Given the description of an element on the screen output the (x, y) to click on. 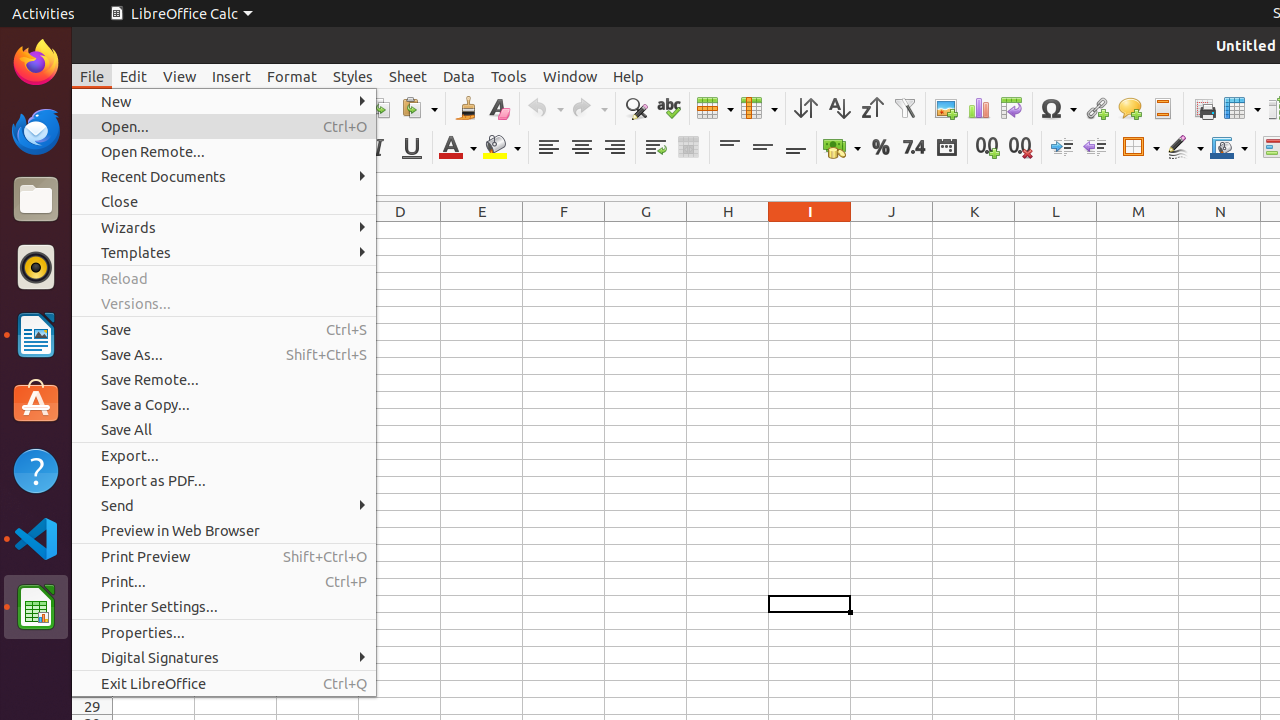
Save Element type: menu-item (224, 329)
Sort Element type: push-button (805, 108)
N1 Element type: table-cell (1220, 230)
Digital Signatures Element type: menu (224, 657)
Reload Element type: menu-item (224, 278)
